Given the description of an element on the screen output the (x, y) to click on. 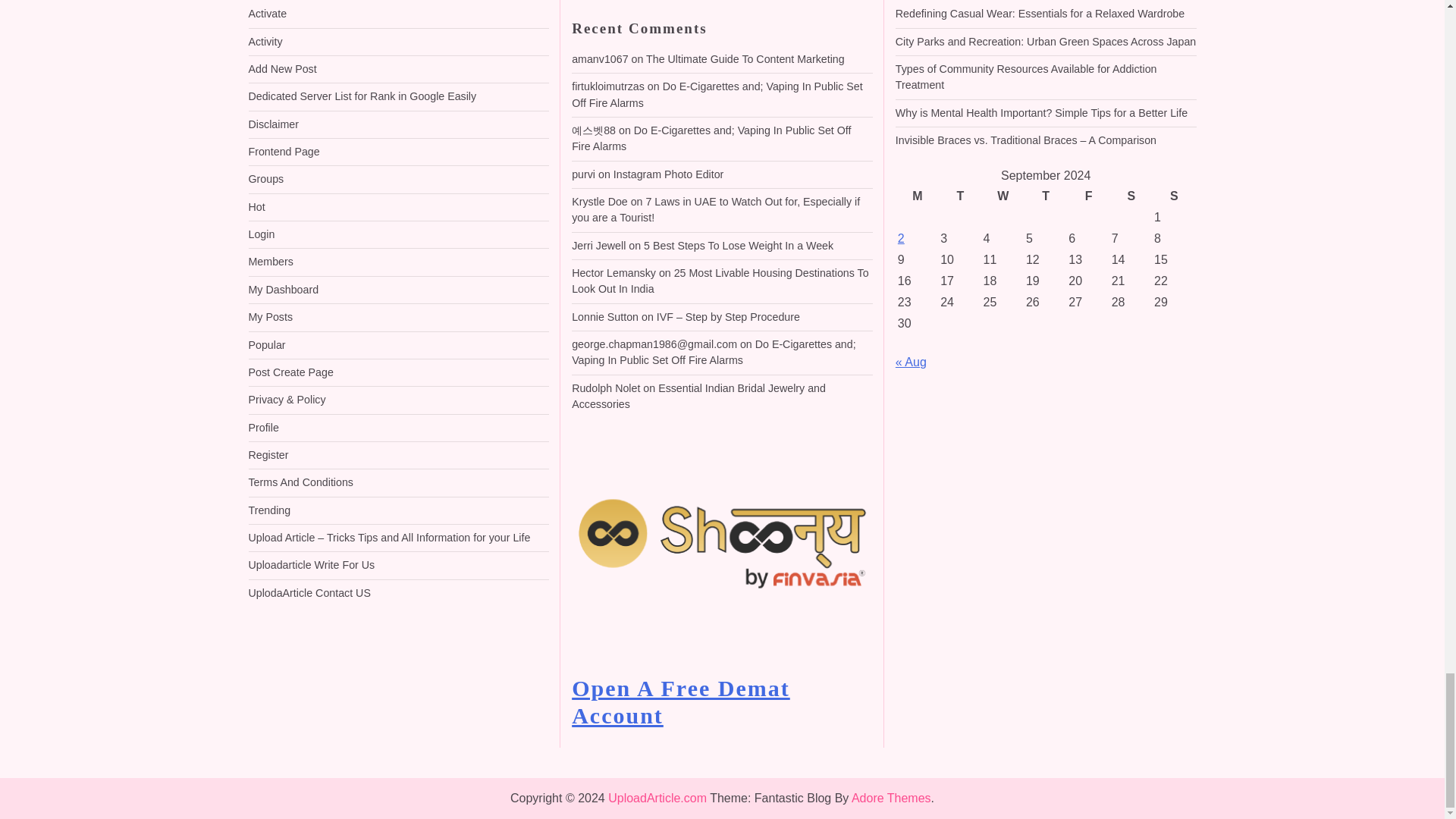
Wednesday (1002, 196)
Search (843, 0)
Friday (1087, 196)
Thursday (1045, 196)
Monday (916, 196)
Tuesday (959, 196)
Saturday (1130, 196)
Sunday (1173, 196)
Search (843, 0)
